Given the description of an element on the screen output the (x, y) to click on. 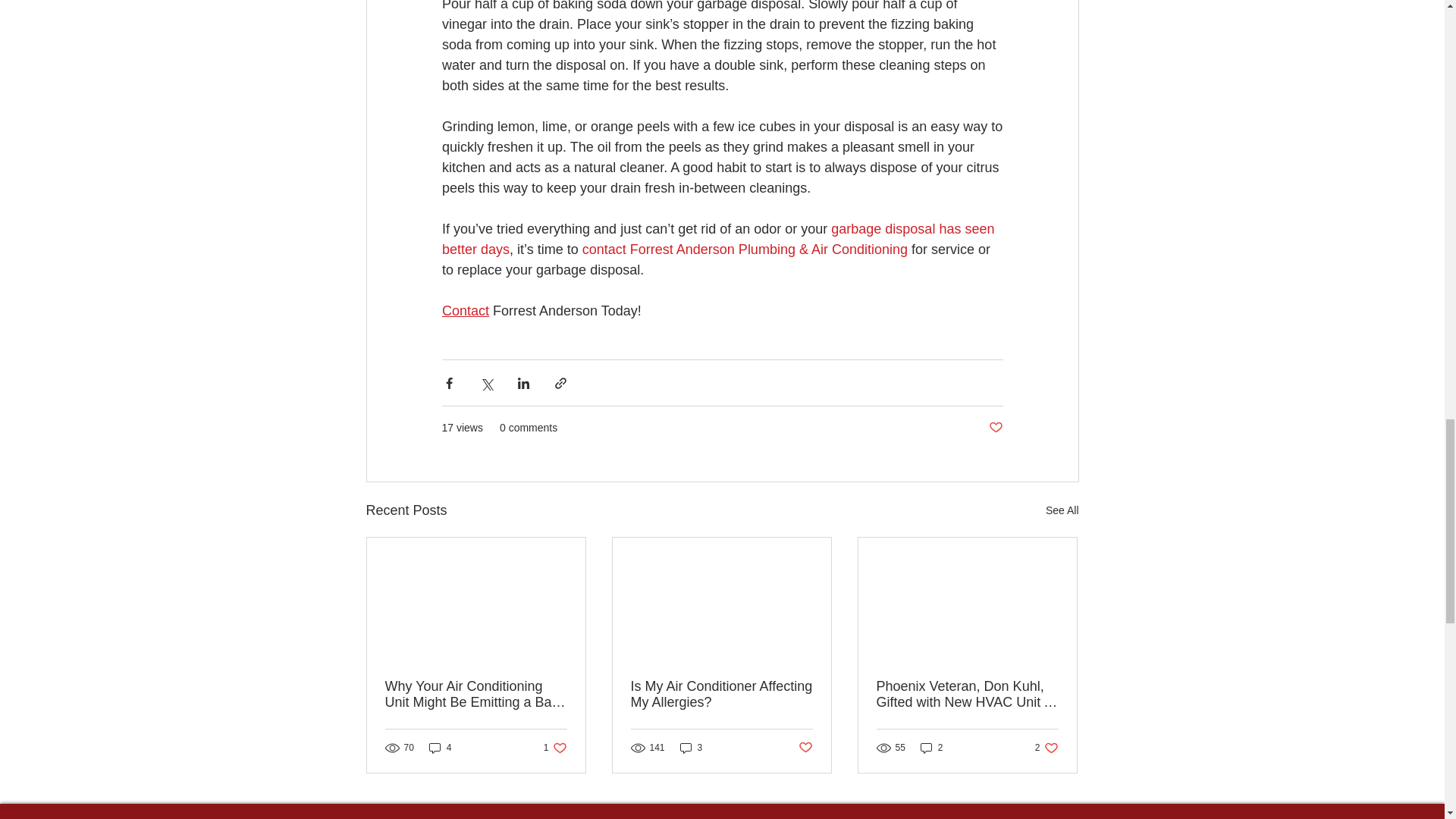
Why Your Air Conditioning Unit Might Be Emitting a Bad Smell (476, 694)
See All (1061, 510)
garbage disposal has seen better days (719, 239)
Contact (464, 310)
Post not marked as liked (995, 427)
